Given the description of an element on the screen output the (x, y) to click on. 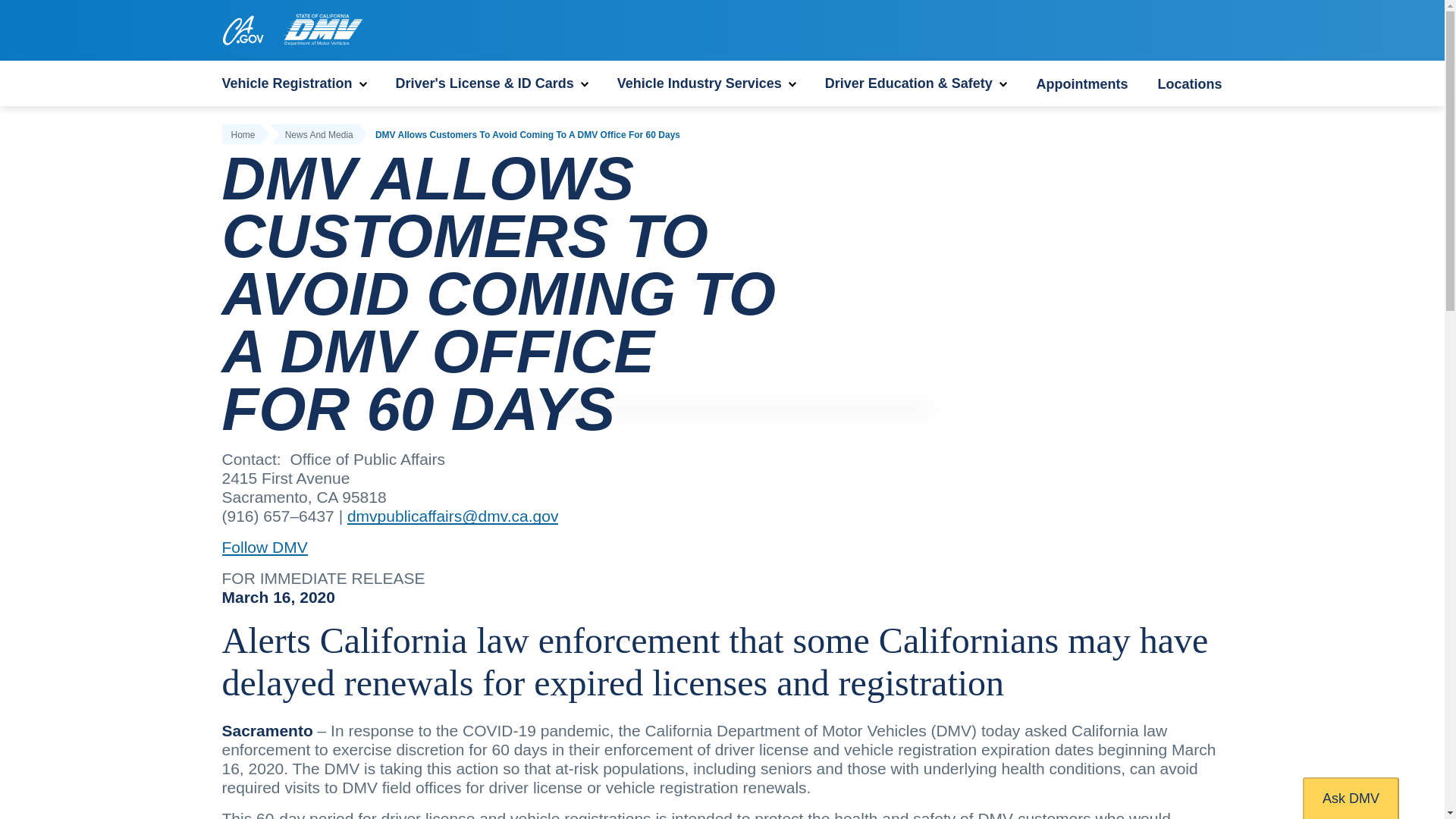
State of California Department of Motor Vehicles (322, 30)
State of California (242, 29)
Vehicle Registration (293, 83)
